Given the description of an element on the screen output the (x, y) to click on. 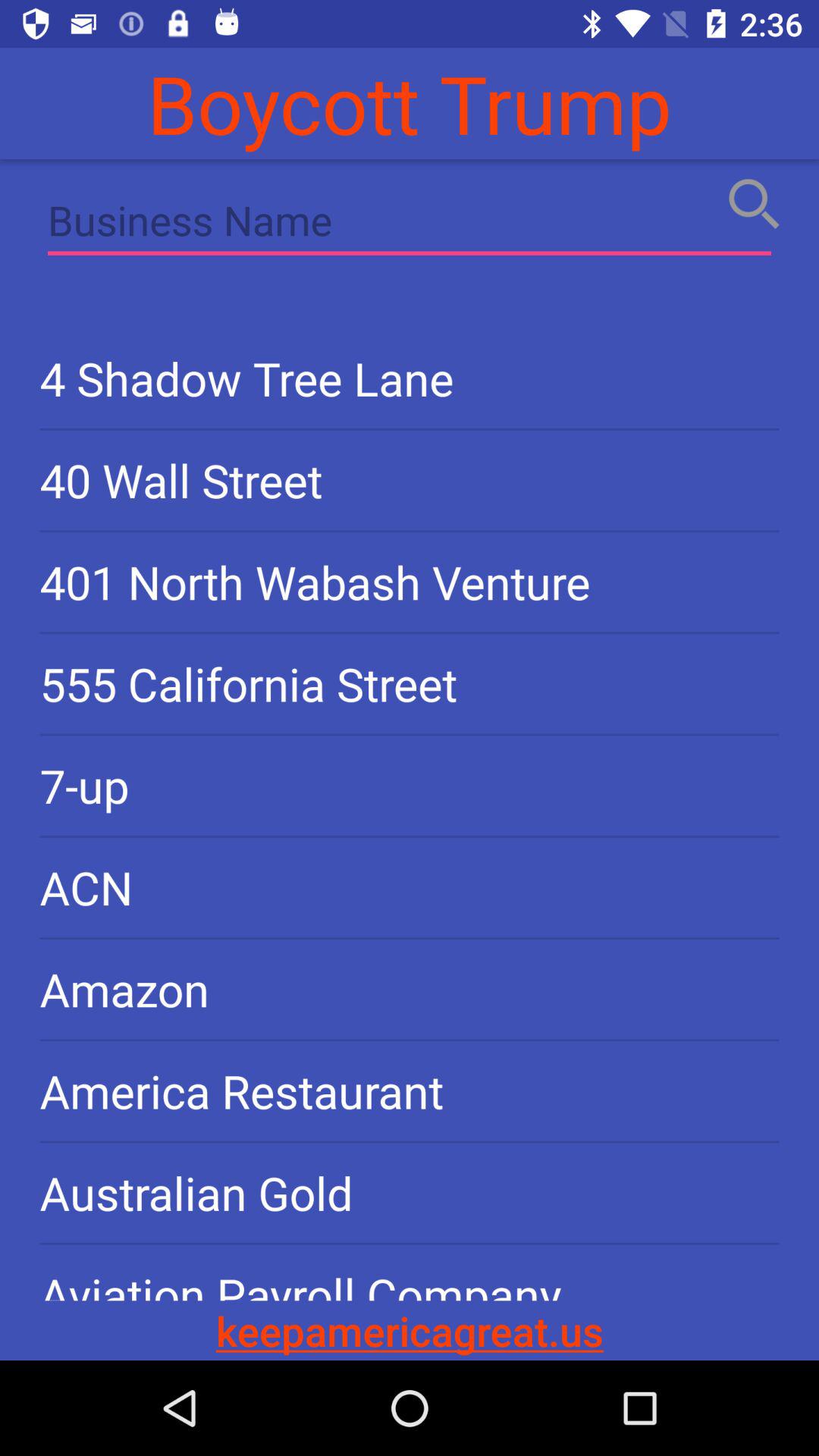
click icon below australian gold item (409, 1272)
